Given the description of an element on the screen output the (x, y) to click on. 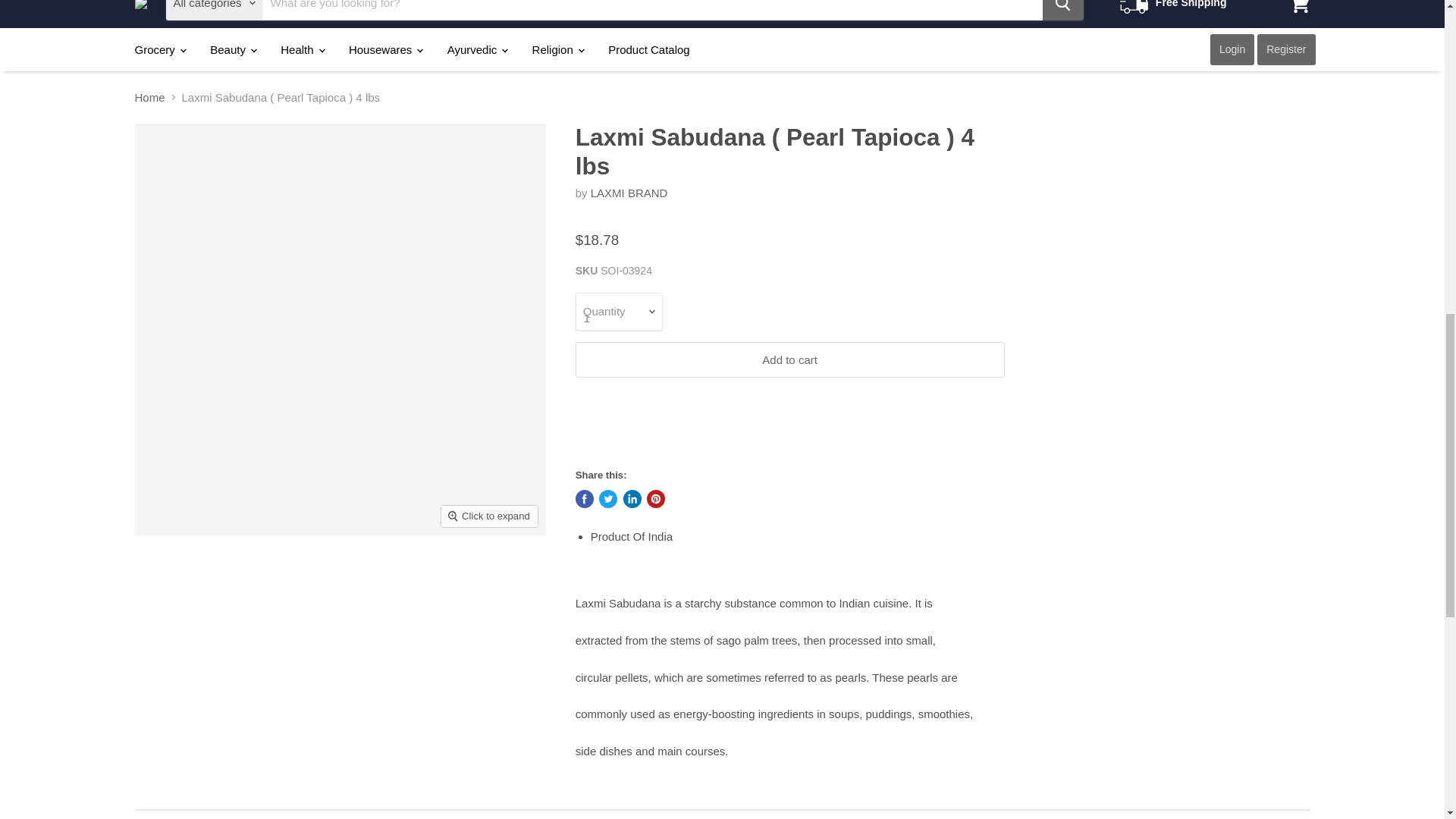
View cart (1299, 10)
LAXMI BRAND (629, 192)
Beauty (232, 49)
Health (301, 49)
Grocery (158, 49)
